Given the description of an element on the screen output the (x, y) to click on. 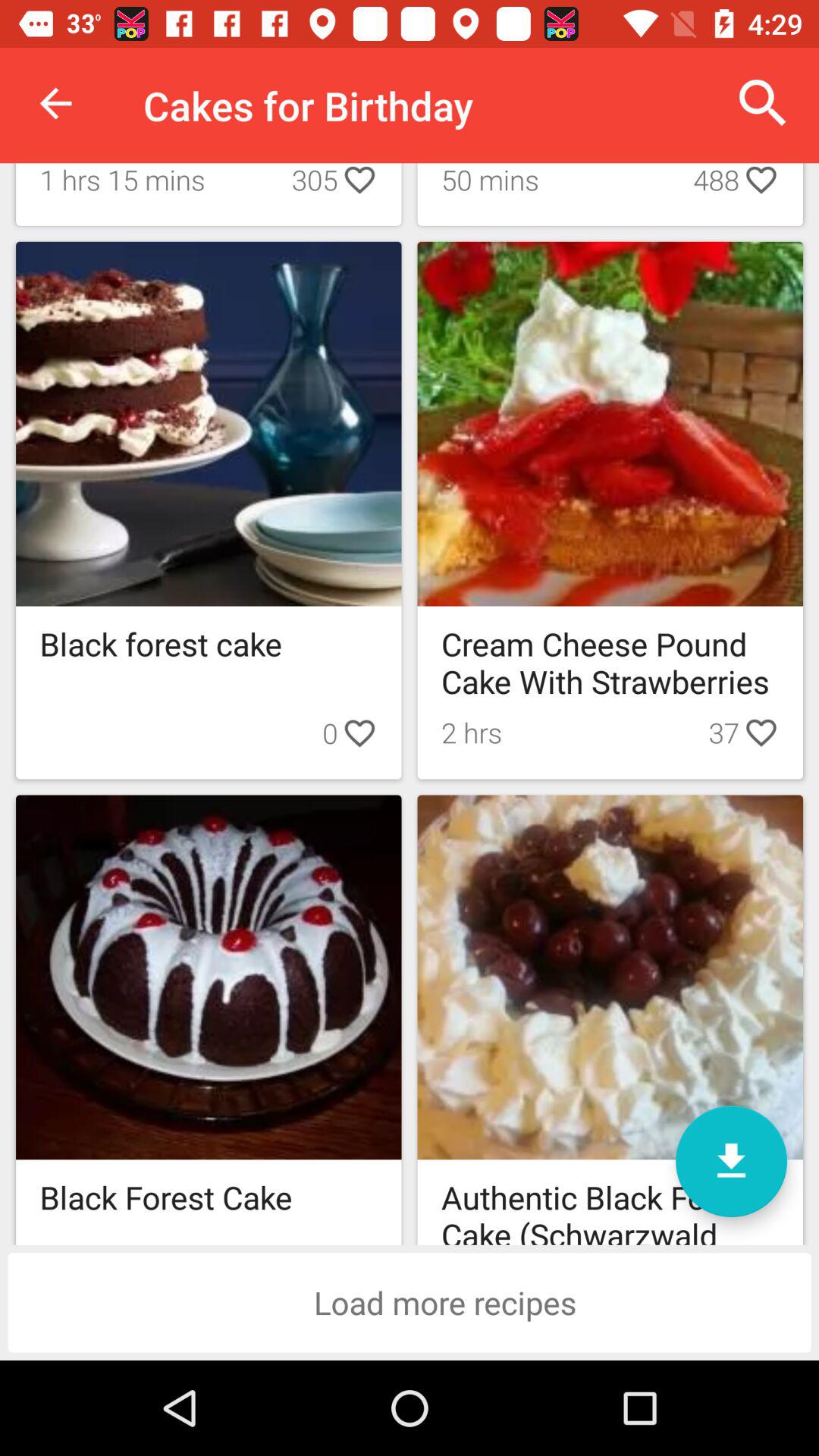
scroll down (731, 1161)
